Given the description of an element on the screen output the (x, y) to click on. 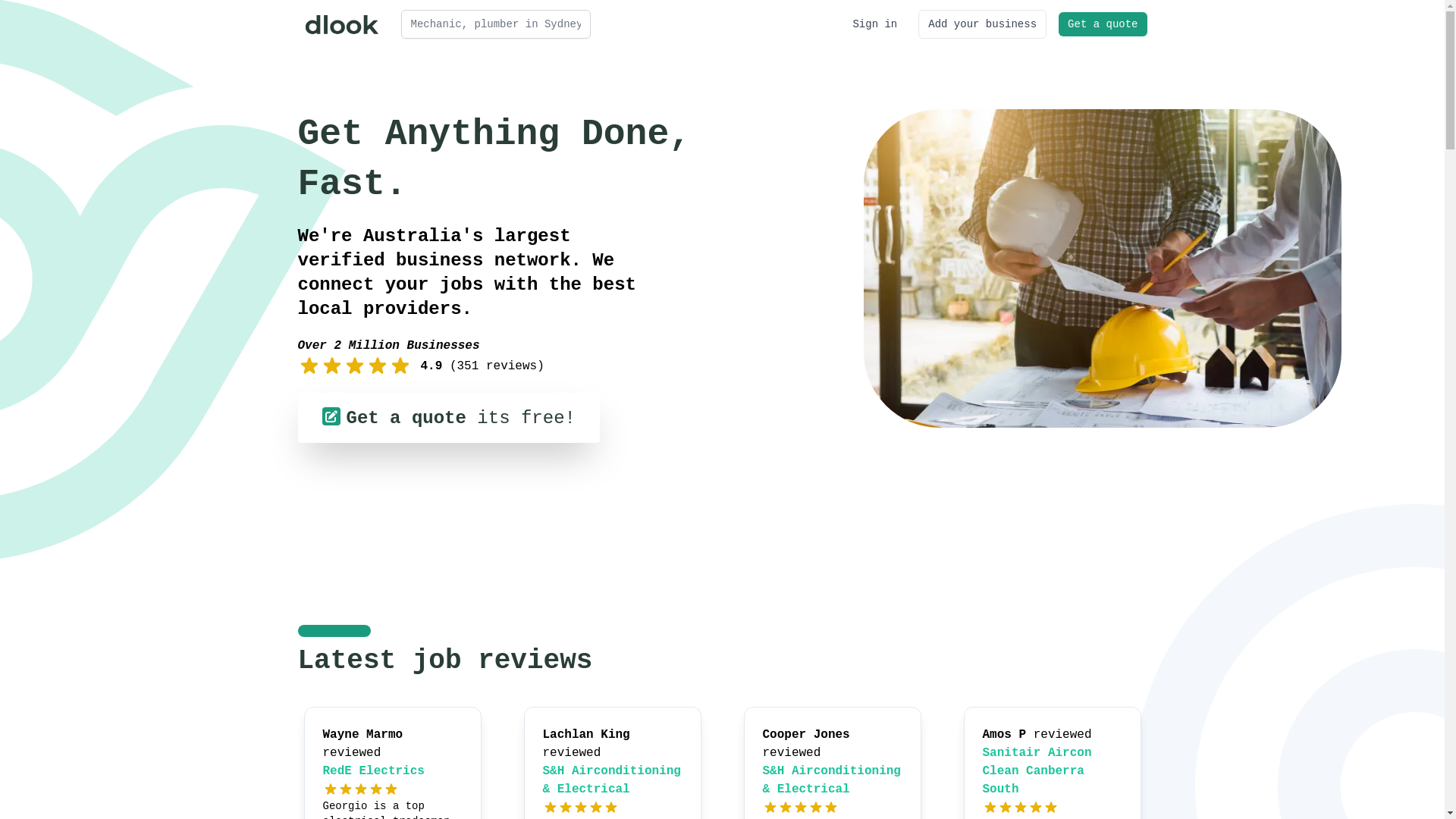
Sanitair Aircon Clean Canberra South Element type: text (1037, 771)
Sign in Element type: text (874, 23)
S&H Airconditioning & Electrical Element type: text (611, 780)
Get a quote Element type: text (1102, 24)
S&H Airconditioning & Electrical Element type: text (831, 780)
RedE Electrics Element type: text (373, 771)
Get a quote its free! Element type: text (448, 417)
Add your business Element type: text (982, 23)
